Given the description of an element on the screen output the (x, y) to click on. 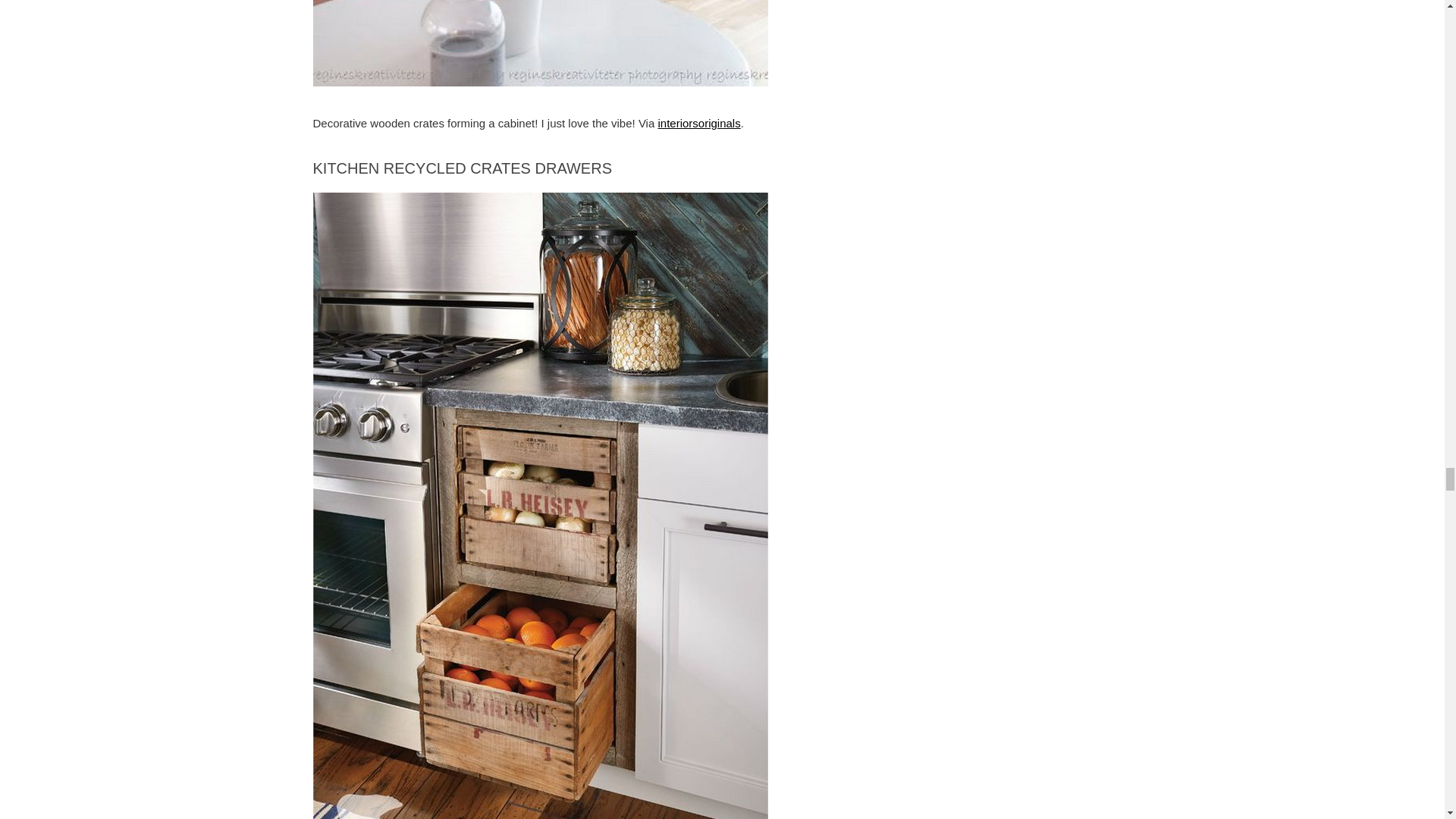
interiorsoriginals (698, 123)
